Given the description of an element on the screen output the (x, y) to click on. 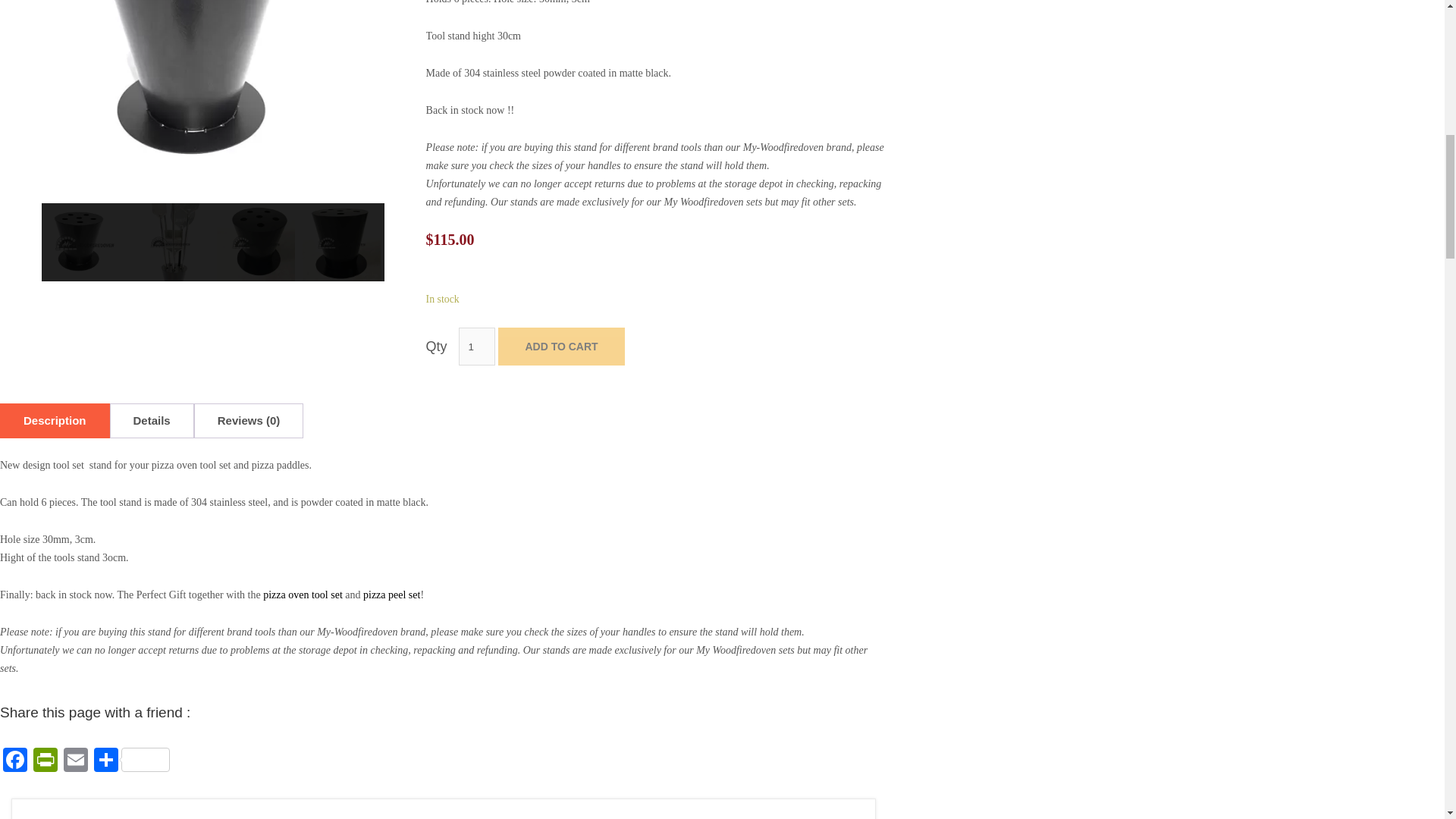
Facebook (15, 761)
PrintFriendly (45, 761)
Email (75, 761)
pizza-oven-tool-stand- (341, 242)
tool-stand-for-pizza-oven-tools (213, 95)
Qty (476, 346)
pizza-oven-tool-stand (255, 242)
pizza-oven-tools-with-stand- (170, 242)
1 (476, 346)
tool-stand-for-pizza-oven-tools (84, 242)
